Given the description of an element on the screen output the (x, y) to click on. 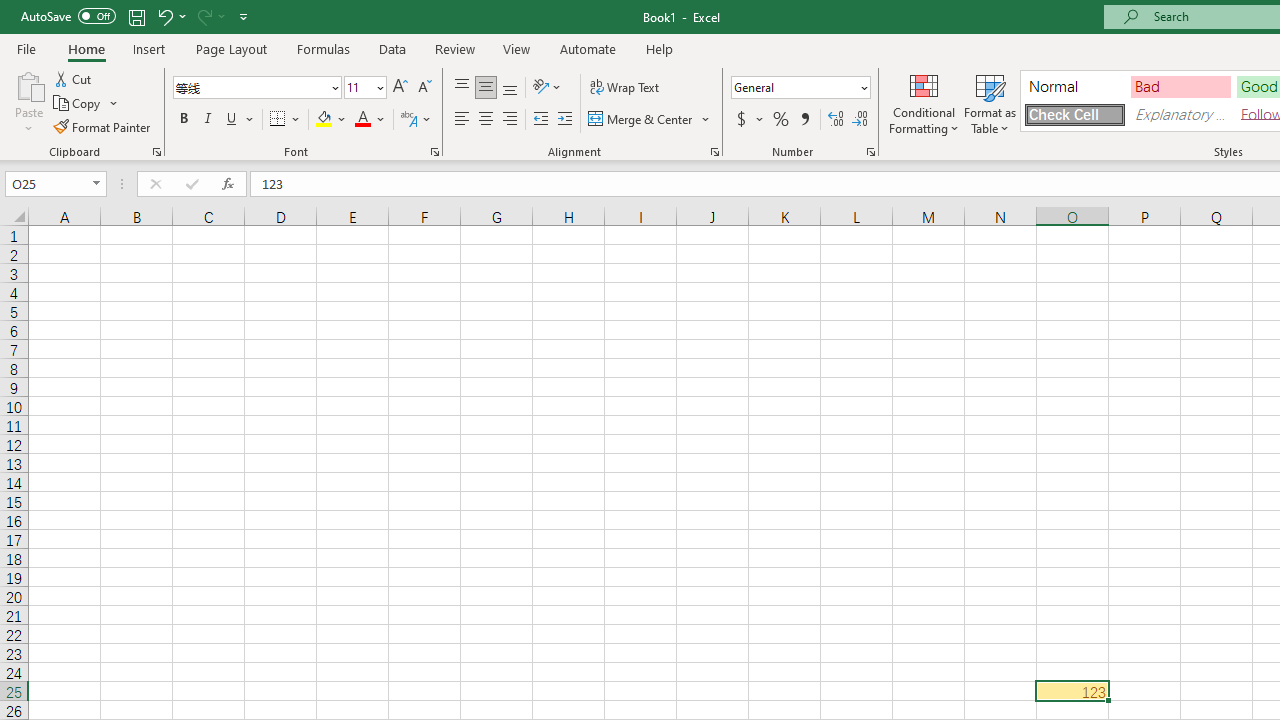
File Tab (26, 48)
Conditional Formatting (924, 102)
Orientation (547, 87)
Format Cell Font (434, 151)
Middle Align (485, 87)
Percent Style (781, 119)
Home (86, 48)
Top Align (461, 87)
Bold (183, 119)
Office Clipboard... (156, 151)
Explanatory Text (1180, 114)
Save (136, 15)
System (10, 11)
AutoSave (68, 16)
Format Cell Number (870, 151)
